Given the description of an element on the screen output the (x, y) to click on. 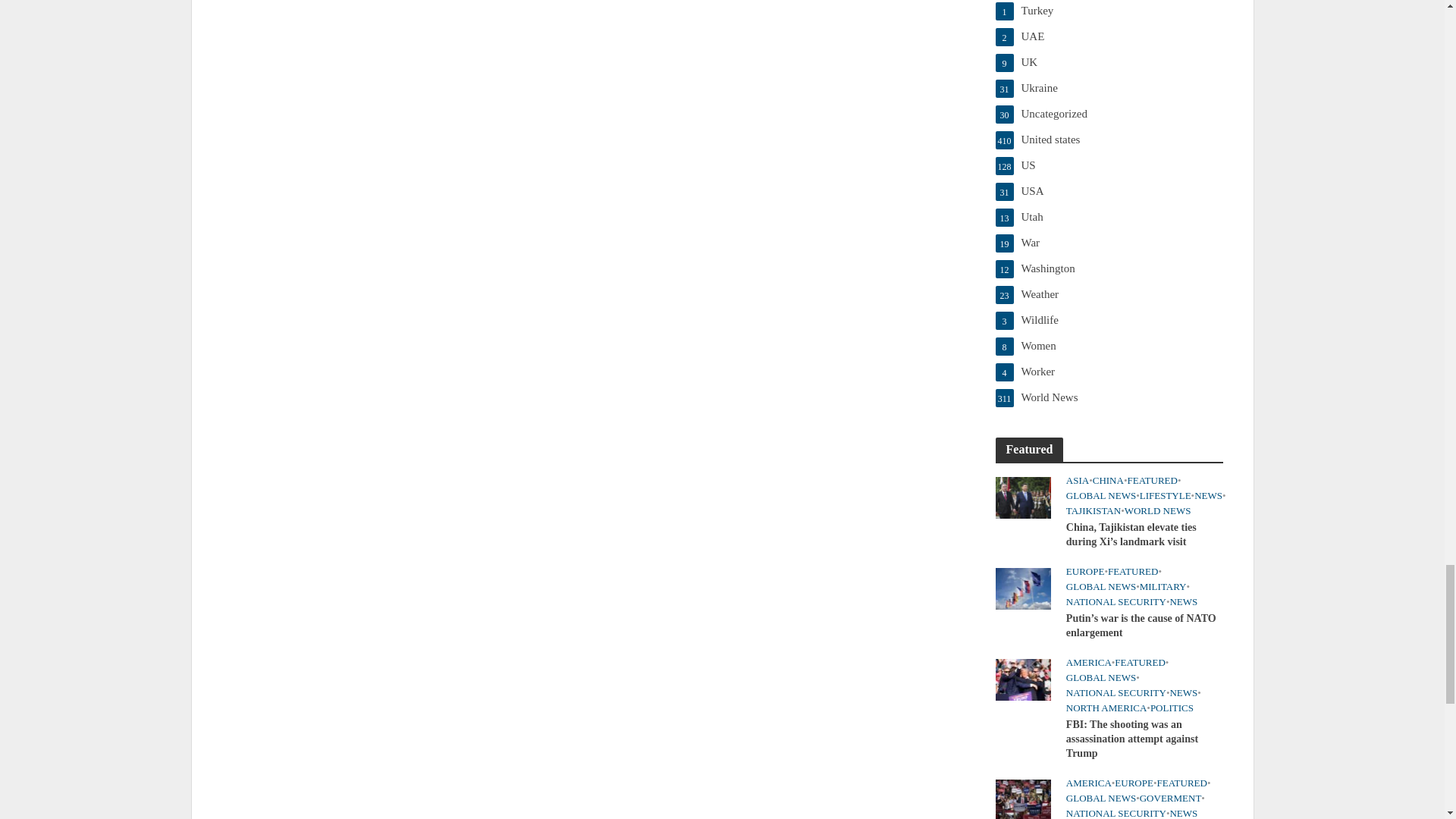
One must not take Trump at his word, says Juncker (1021, 799)
FBI: The shooting was an assassination attempt against Trump (1021, 678)
